Given the description of an element on the screen output the (x, y) to click on. 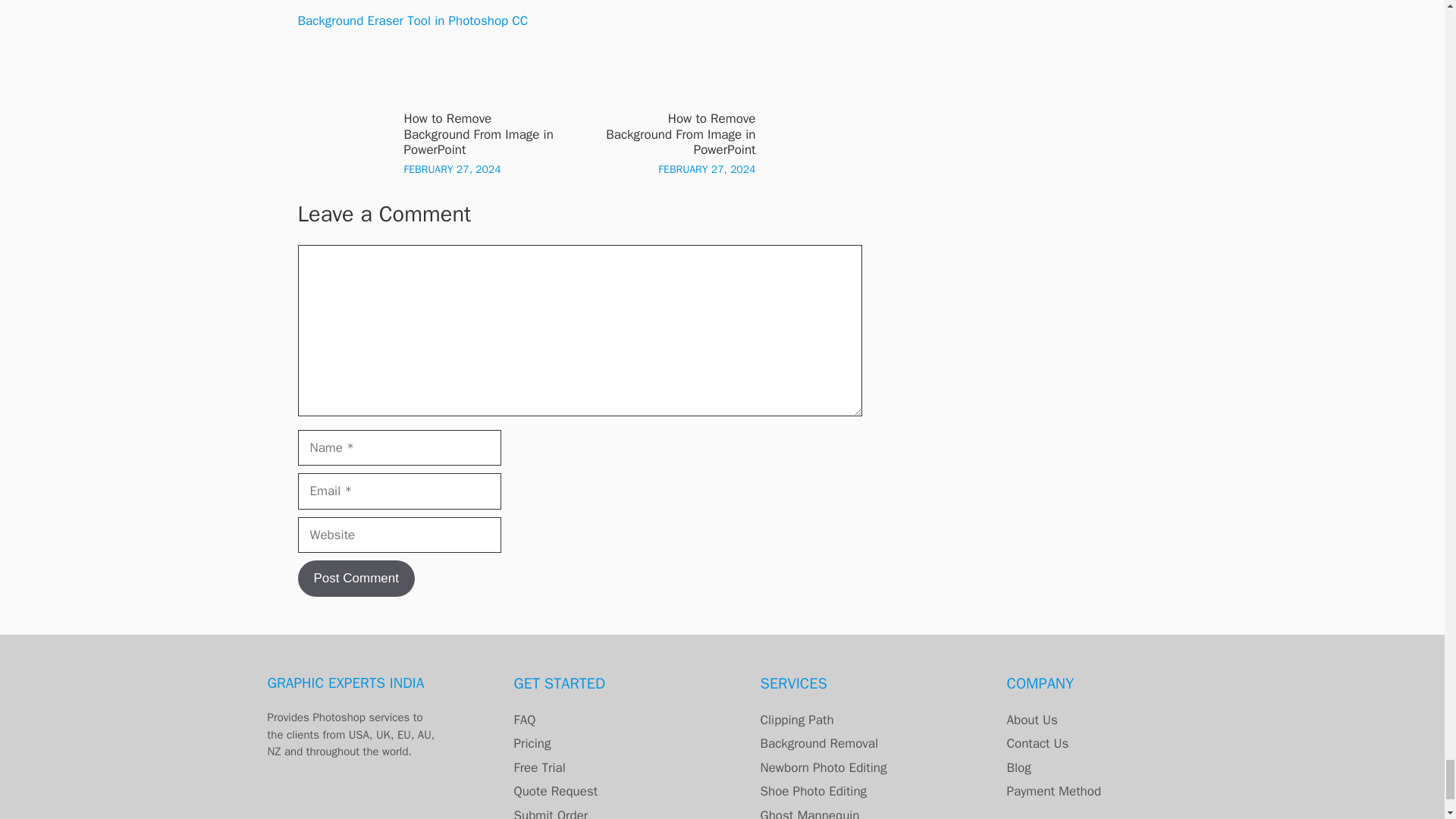
Post Comment (355, 578)
